Given the description of an element on the screen output the (x, y) to click on. 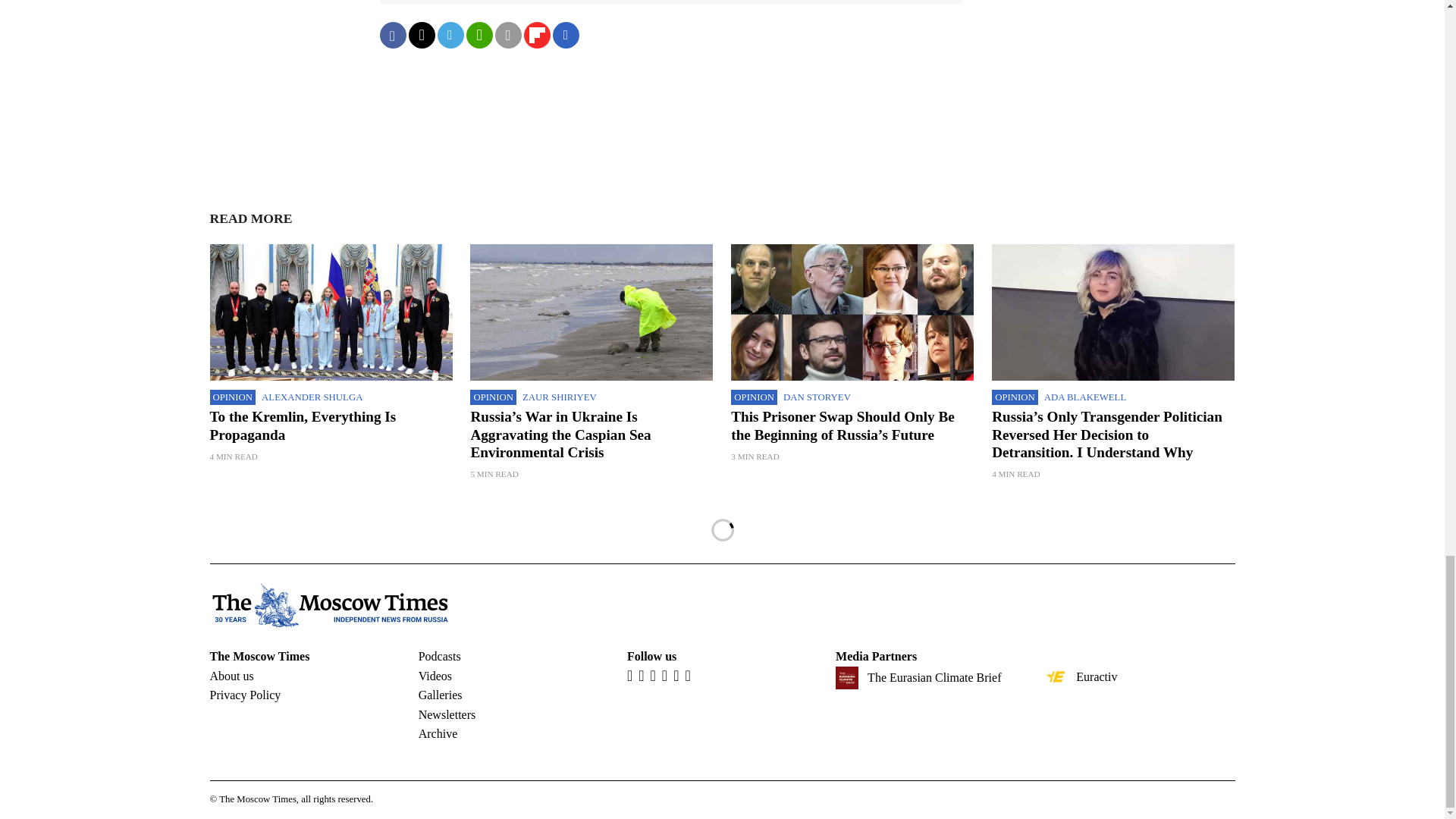
Share with email (508, 35)
Share on Facebook (392, 35)
Share on Telegram (449, 35)
Share on Flipboard (536, 35)
Share on WhatsApp (478, 35)
Download as PDF (565, 35)
Share on Twitter (420, 35)
